Given the description of an element on the screen output the (x, y) to click on. 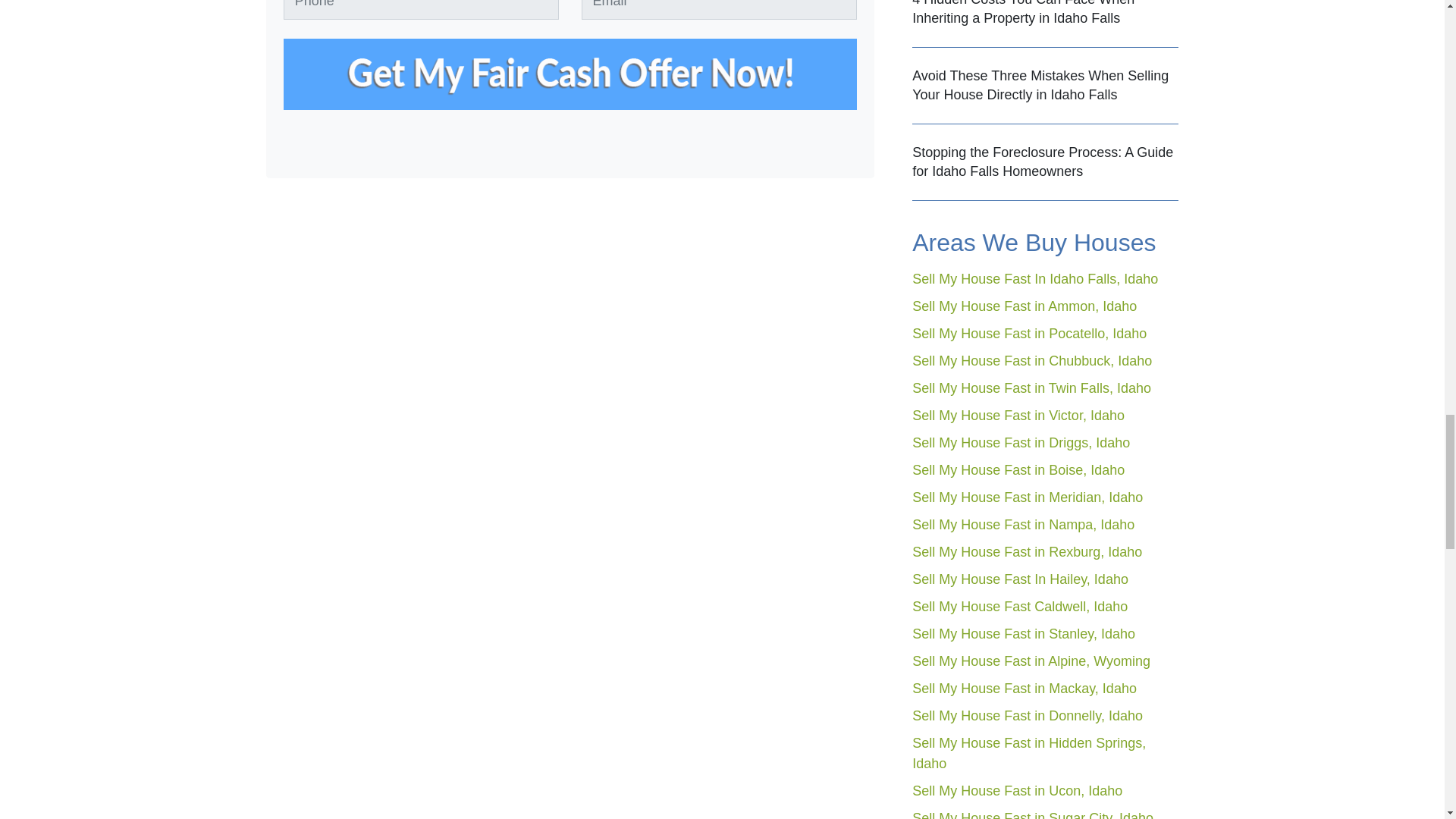
Sell My House Fast in Chubbuck, Idaho (1031, 360)
Facebook (807, 148)
Sell My House Fast in Nampa, Idaho (1023, 524)
Sell My House Fast in Twin Falls, Idaho (1031, 387)
Sell My House Fast in Victor, Idaho (1018, 415)
YouTube (845, 148)
Sell My House Fast in Rexburg, Idaho (1026, 551)
Sell My House Fast in Ammon, Idaho (1024, 305)
Sell My House Fast in Boise, Idaho (1018, 469)
Sell My House Fast in Meridian, Idaho (1027, 497)
Sell My House Fast in Pocatello, Idaho (1029, 333)
Sell My House Fast In Idaho Falls, Idaho (1034, 278)
